Given the description of an element on the screen output the (x, y) to click on. 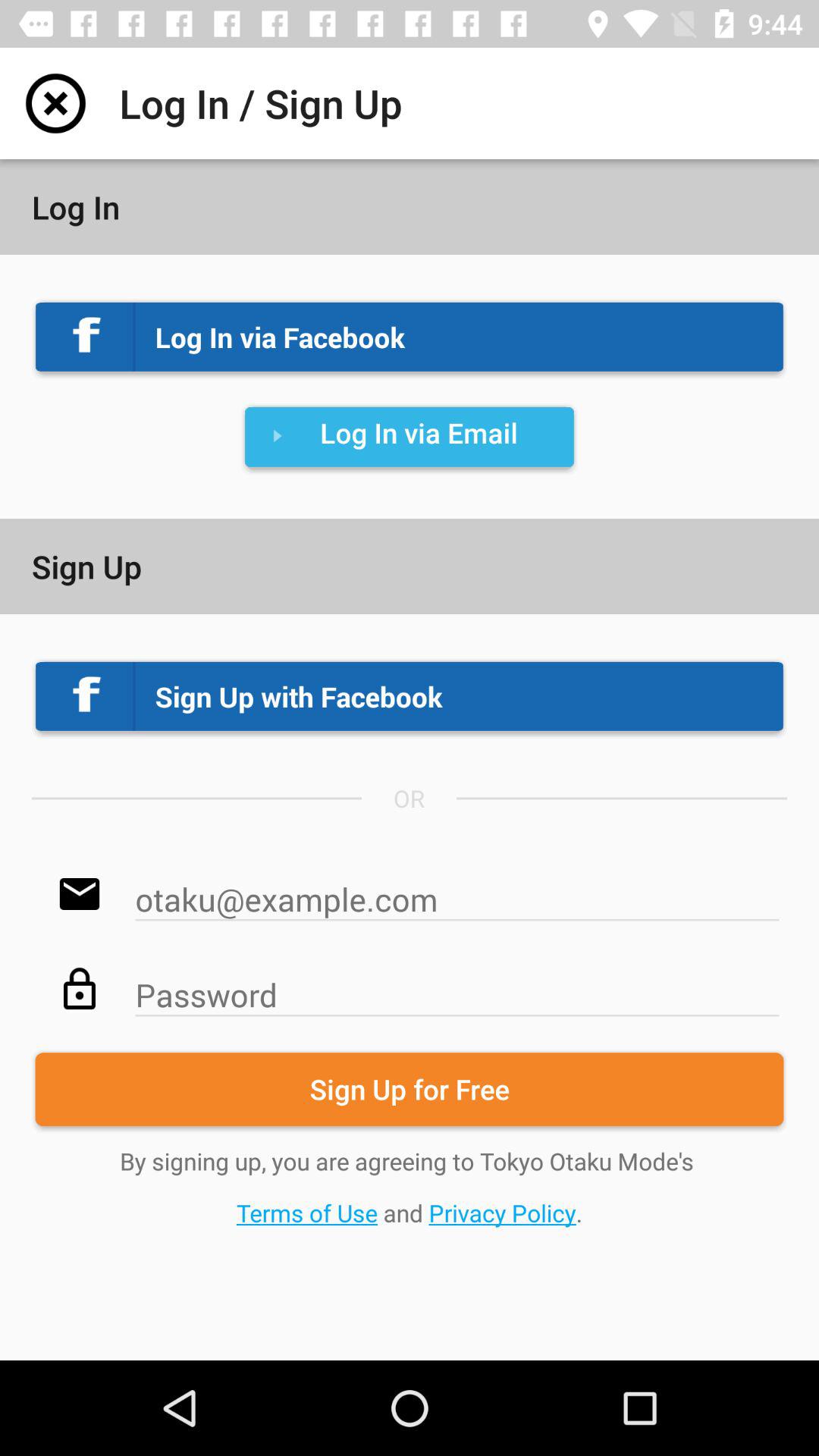
press the item to the left of log in sign item (55, 103)
